Given the description of an element on the screen output the (x, y) to click on. 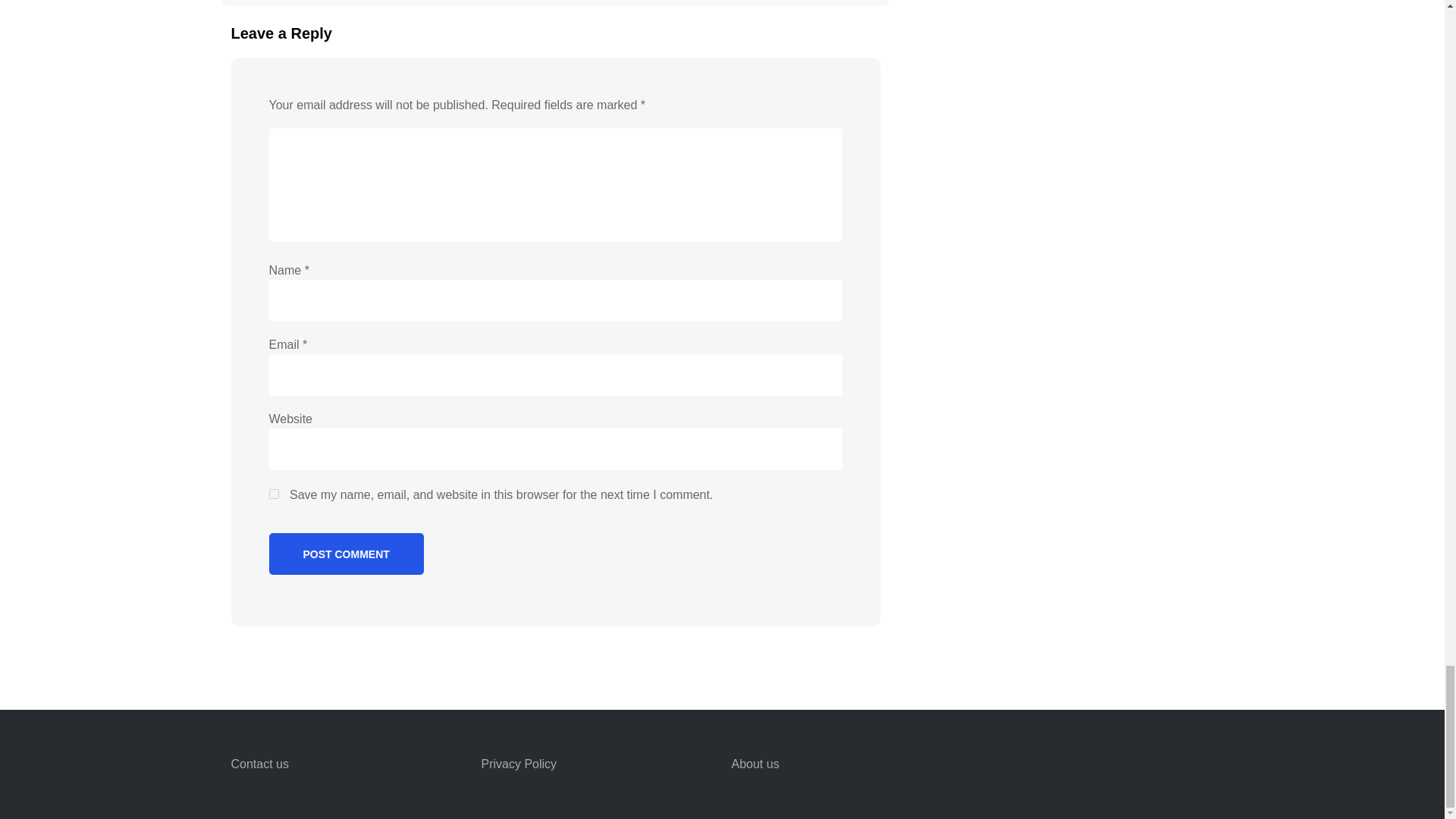
Privacy Policy (518, 764)
Privacy Policy (518, 764)
Post Comment (345, 553)
Contact us (259, 764)
Post Comment (345, 553)
About us (754, 764)
About us (754, 764)
Contact us (259, 764)
yes (272, 493)
